Given the description of an element on the screen output the (x, y) to click on. 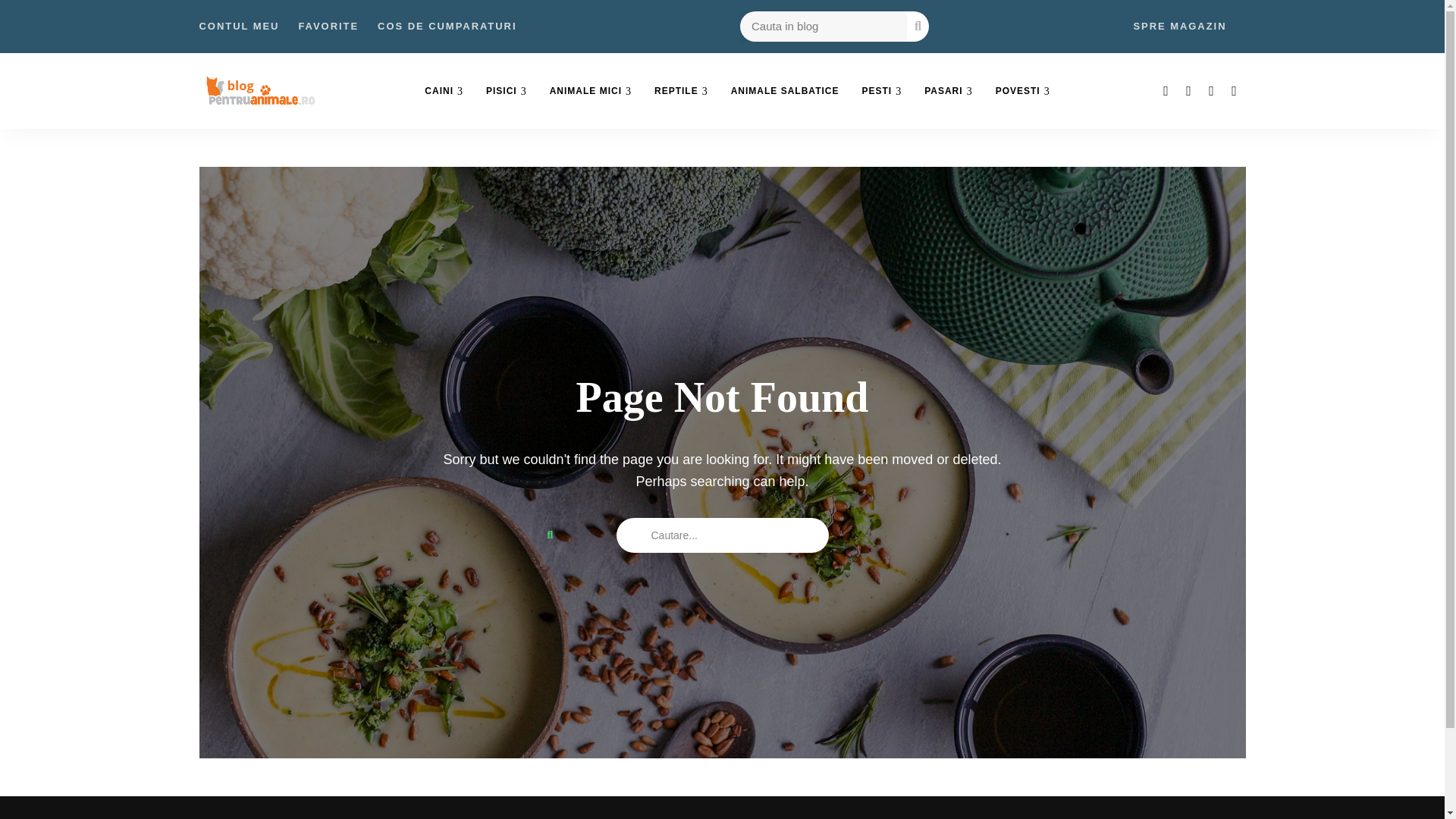
FAVORITE (328, 26)
ANIMALE SALBATICE (784, 90)
ANIMALE MICI (590, 90)
POVESTI (1022, 90)
REPTILE (681, 90)
CONTUL MEU (238, 26)
PASARI (948, 90)
COS DE CUMPARATURI (446, 26)
SPRE MAGAZIN (1178, 26)
